Given the description of an element on the screen output the (x, y) to click on. 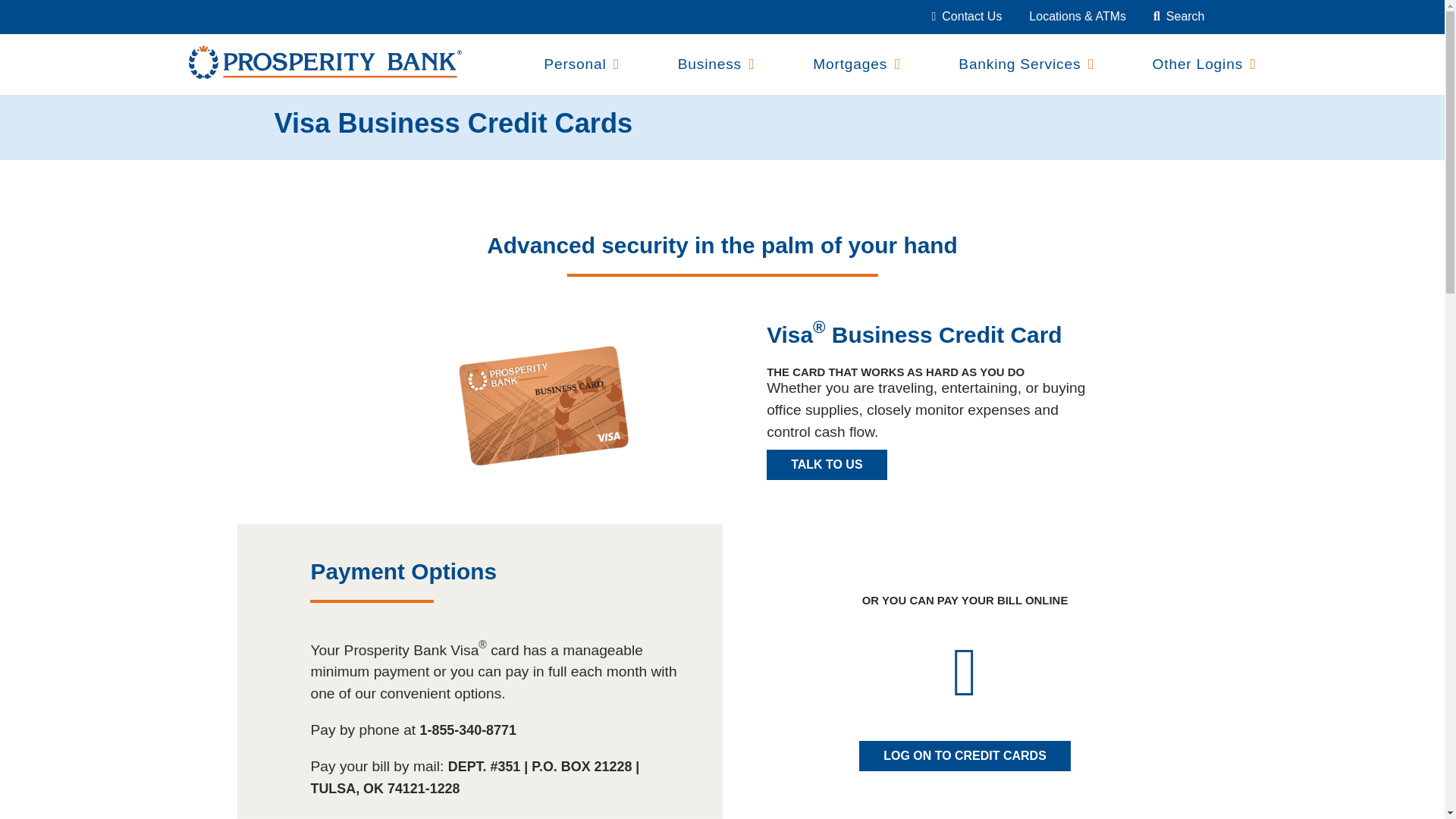
Personal (574, 64)
Search (1179, 16)
Contact Us (966, 16)
Business (709, 64)
